Given the description of an element on the screen output the (x, y) to click on. 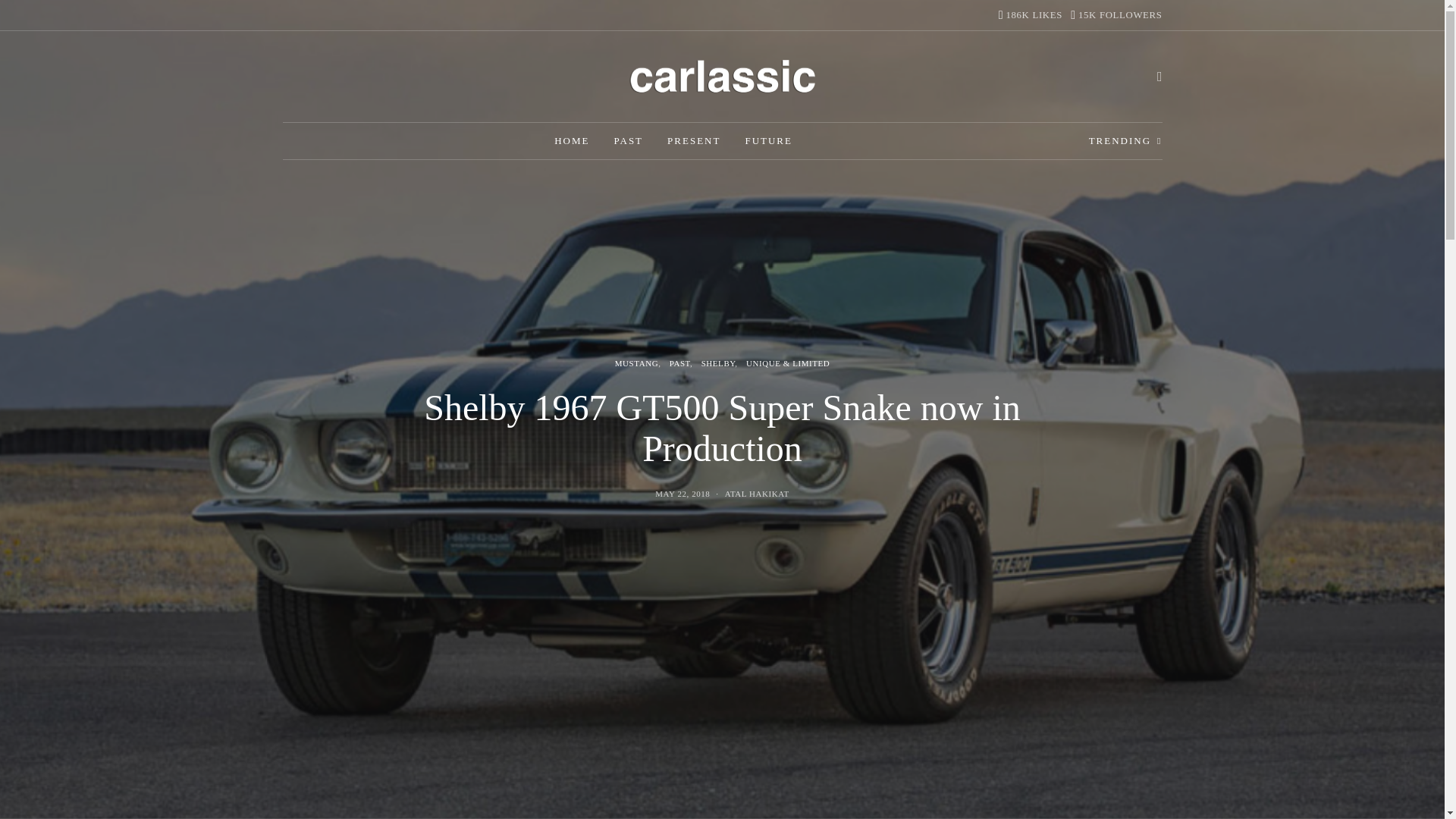
TRENDING (1030, 15)
MUSTANG (1125, 140)
ATAL HAKIKAT (636, 361)
PAST (757, 492)
View all posts by Atal Hakikat (627, 140)
PRESENT (757, 492)
MAY 22, 2018 (693, 140)
FUTURE (682, 492)
SHELBY (768, 140)
HOME (718, 361)
PAST (571, 140)
